Given the description of an element on the screen output the (x, y) to click on. 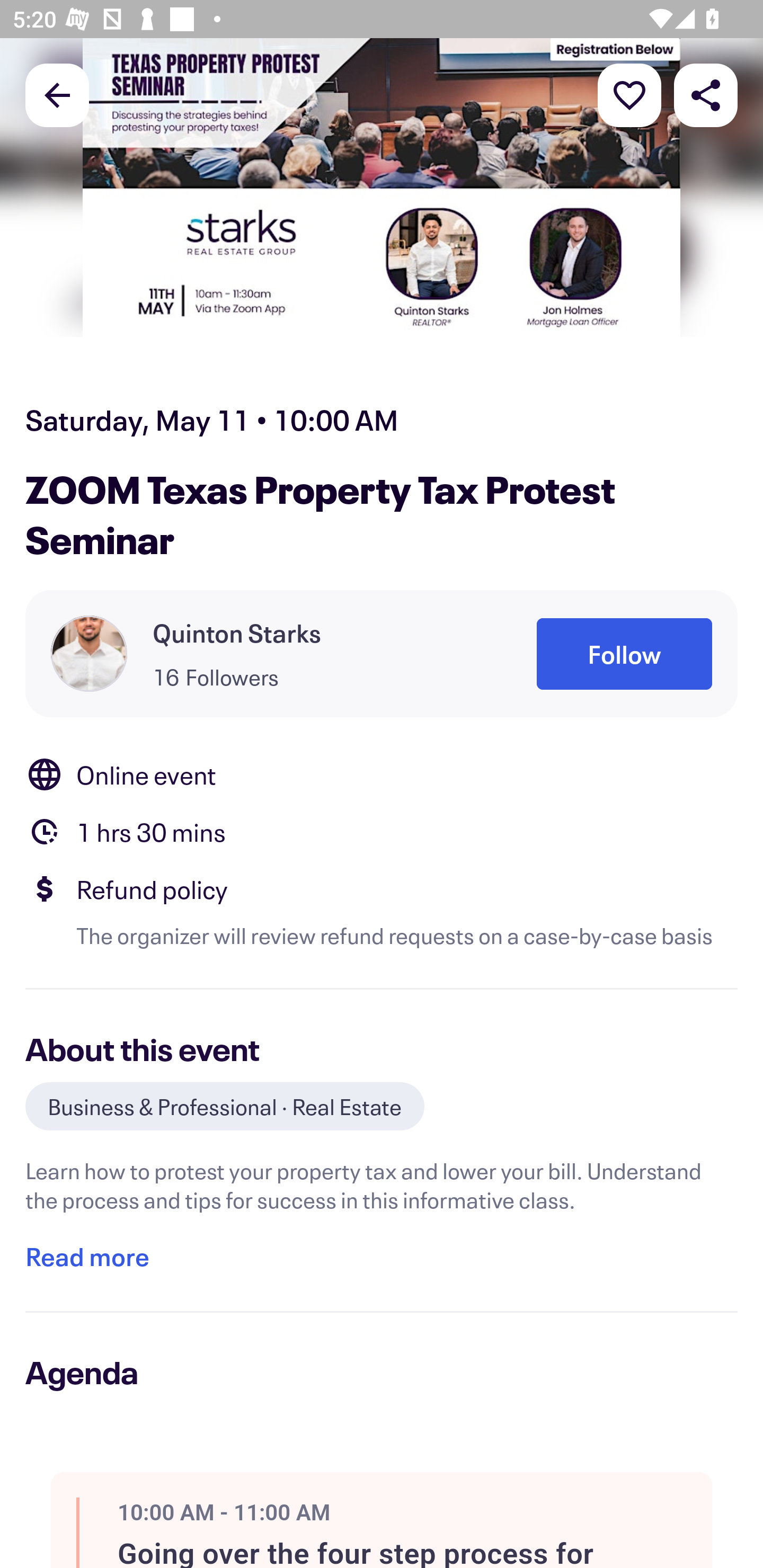
Back (57, 94)
More (629, 94)
Share (705, 94)
Quinton Starks (236, 632)
Organizer profile picture (89, 653)
Follow (623, 654)
Location Online event (381, 774)
Read more (87, 1256)
